Given the description of an element on the screen output the (x, y) to click on. 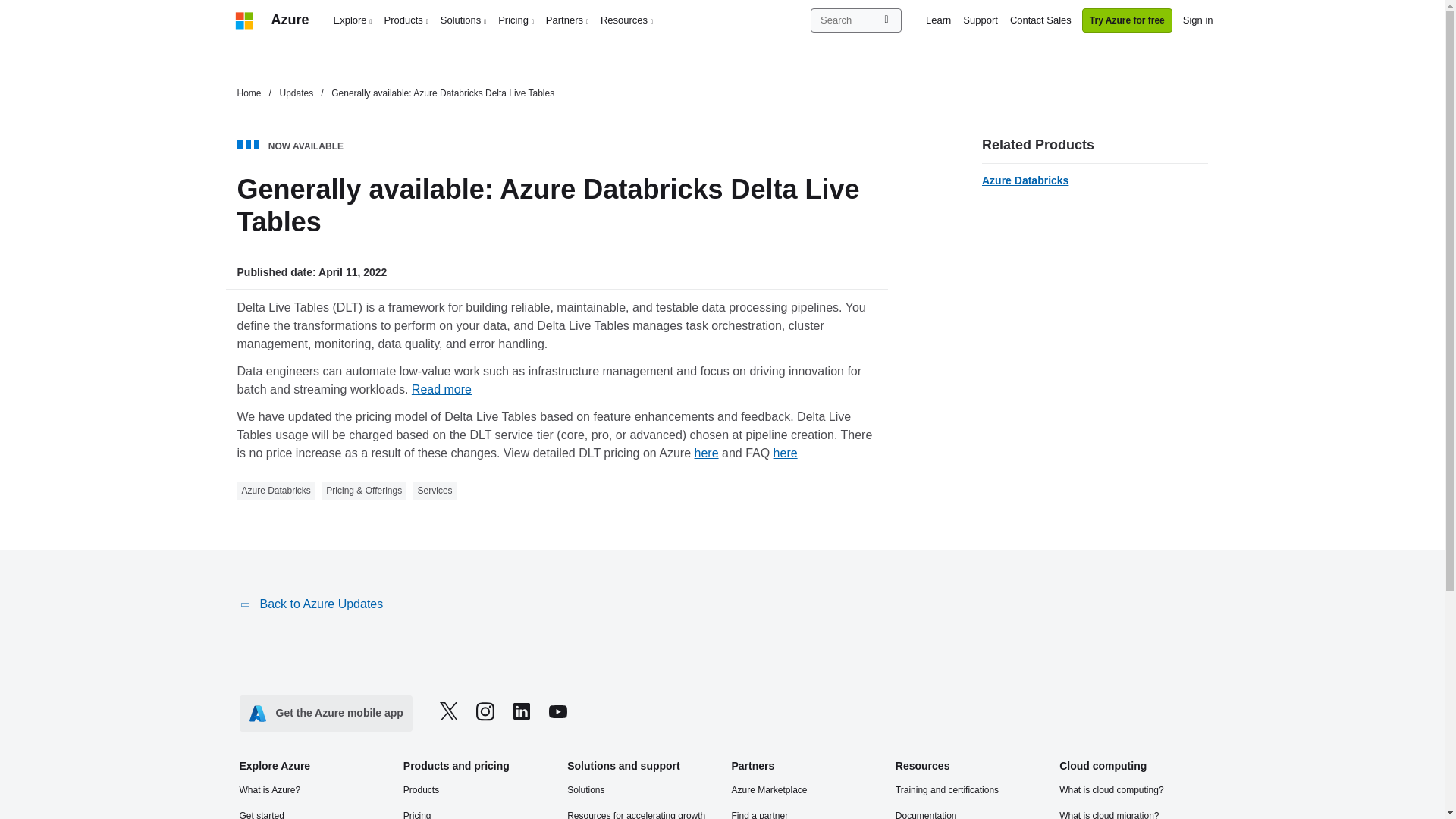
Products (405, 20)
Explore (352, 20)
Skip to main content (7, 7)
Azure (289, 19)
